Given the description of an element on the screen output the (x, y) to click on. 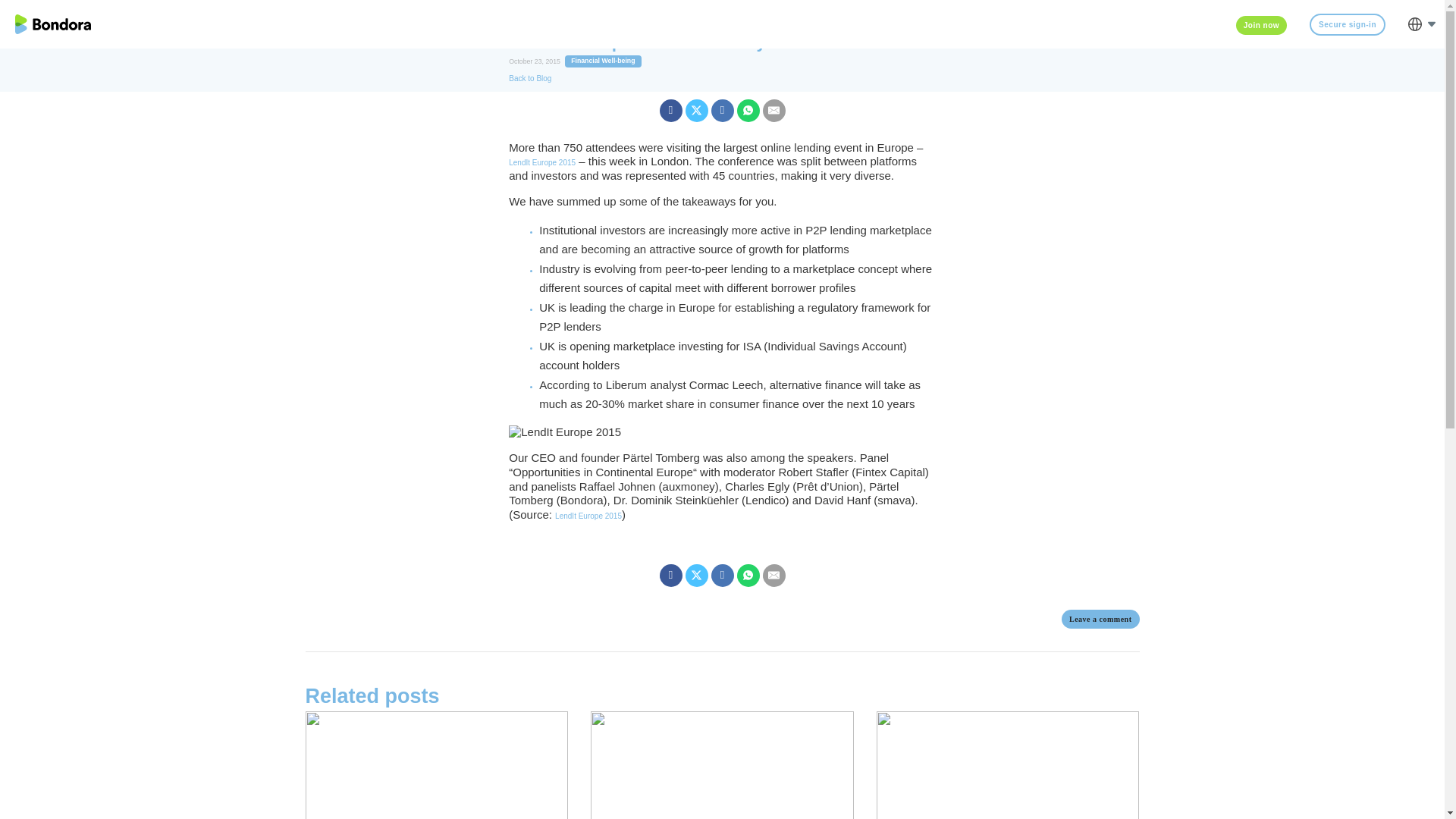
LendIt Europe 2015 (587, 515)
Join now (1261, 24)
LendIt Europe 2015 (541, 162)
Financial Well-being (602, 60)
Secure sign-in (1347, 24)
Back to Blog (529, 78)
